Given the description of an element on the screen output the (x, y) to click on. 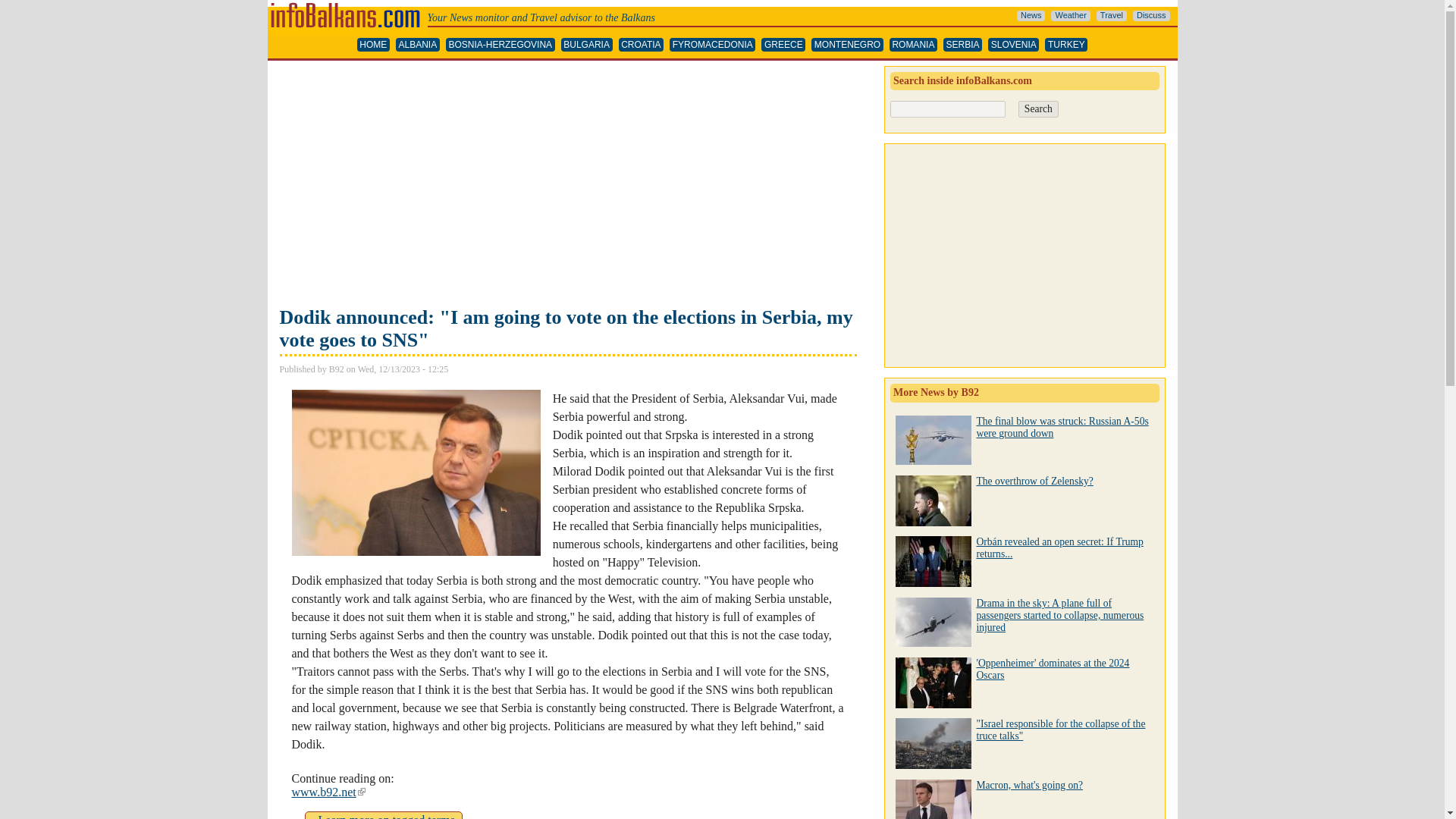
ROMANIA (913, 44)
ALBANIA (417, 44)
BULGARIA (586, 44)
Travel (1111, 15)
TURKEY (1066, 44)
Advertisement (567, 184)
MONTENEGRO (846, 44)
Weather (1070, 15)
SLOVENIA (1013, 44)
FYROMACEDONIA (712, 44)
BOSNIA-HERZEGOVINA (499, 44)
CROATIA (386, 816)
Skip to main content (640, 44)
